Given the description of an element on the screen output the (x, y) to click on. 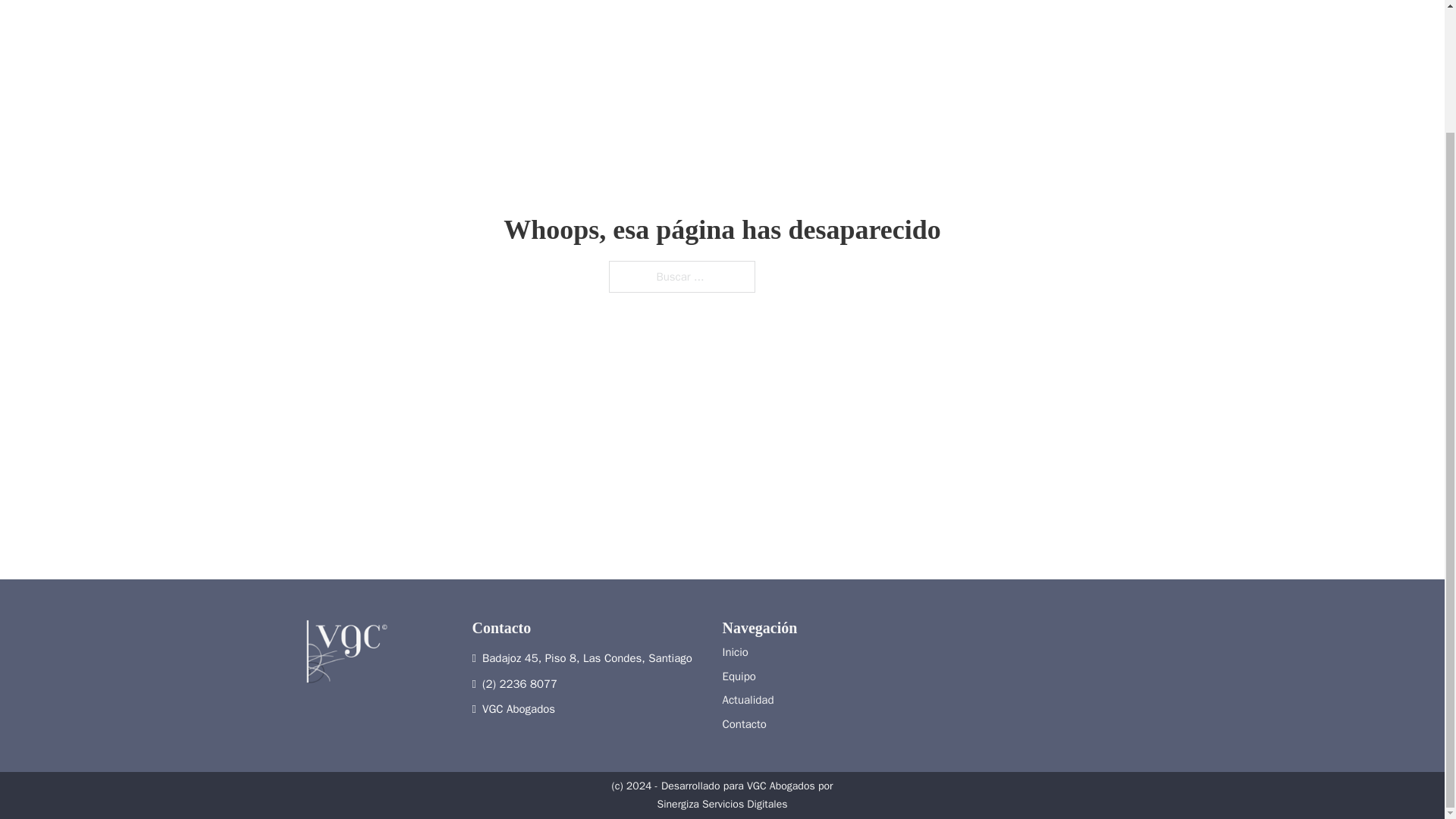
Equipo (759, 677)
Actualidad (759, 700)
Inicio (759, 652)
VGC Abogados (584, 709)
Contacto (759, 723)
Sinergiza Servicios Digitales (722, 804)
